Given the description of an element on the screen output the (x, y) to click on. 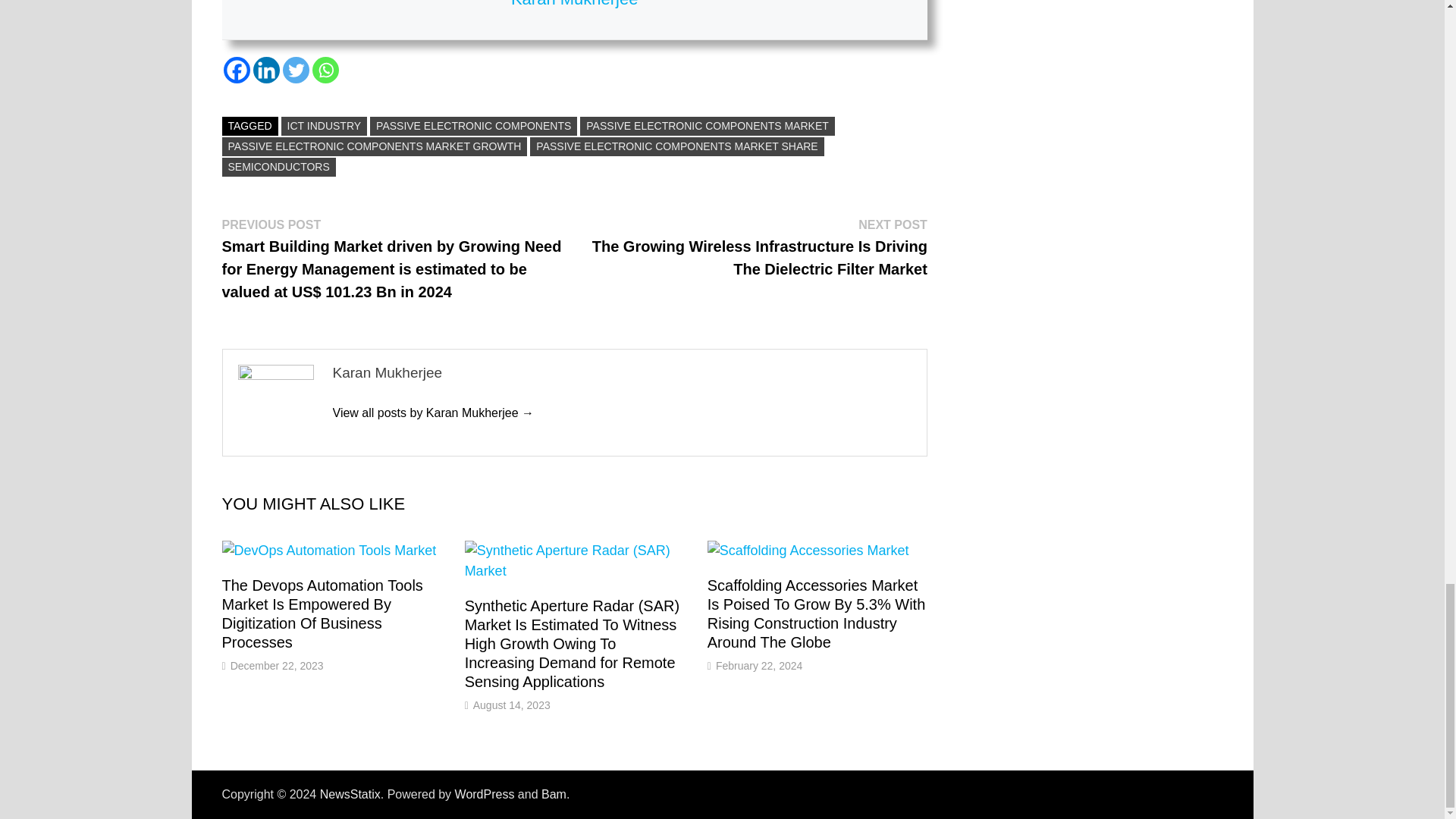
Linkedin (266, 69)
NewsStatix (350, 793)
Whatsapp (326, 69)
Twitter (295, 69)
Karan Mukherjee (432, 412)
Facebook (235, 69)
